Given the description of an element on the screen output the (x, y) to click on. 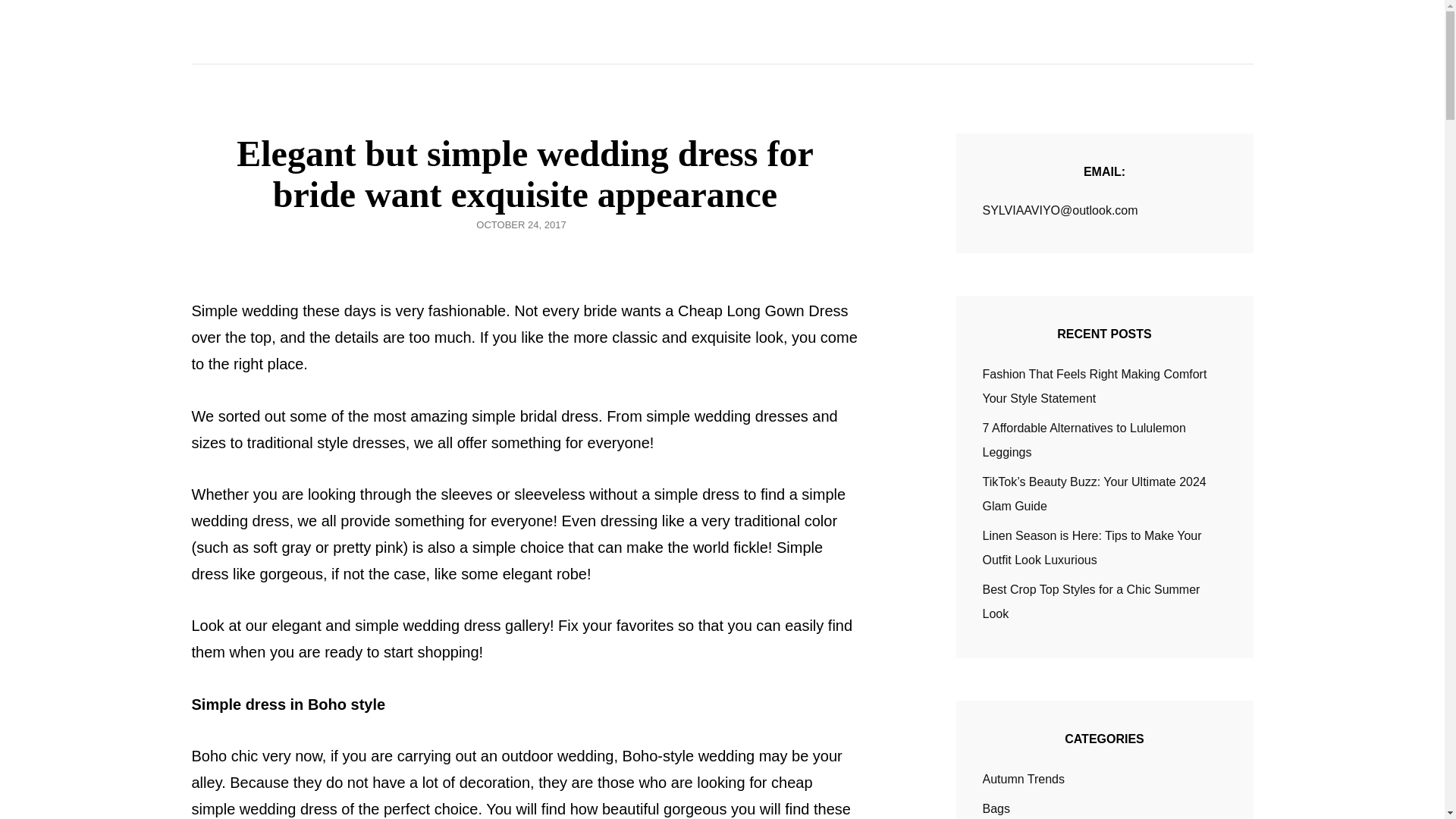
Bags (996, 807)
Fashion That Feels Right Making Comfort Your Style Statement (1094, 385)
OCTOBER 24, 2017 (521, 224)
Best Crop Top Styles for a Chic Summer Look (1090, 601)
7 Affordable Alternatives to Lululemon Leggings (1084, 439)
Autumn Trends (1023, 779)
